Given the description of an element on the screen output the (x, y) to click on. 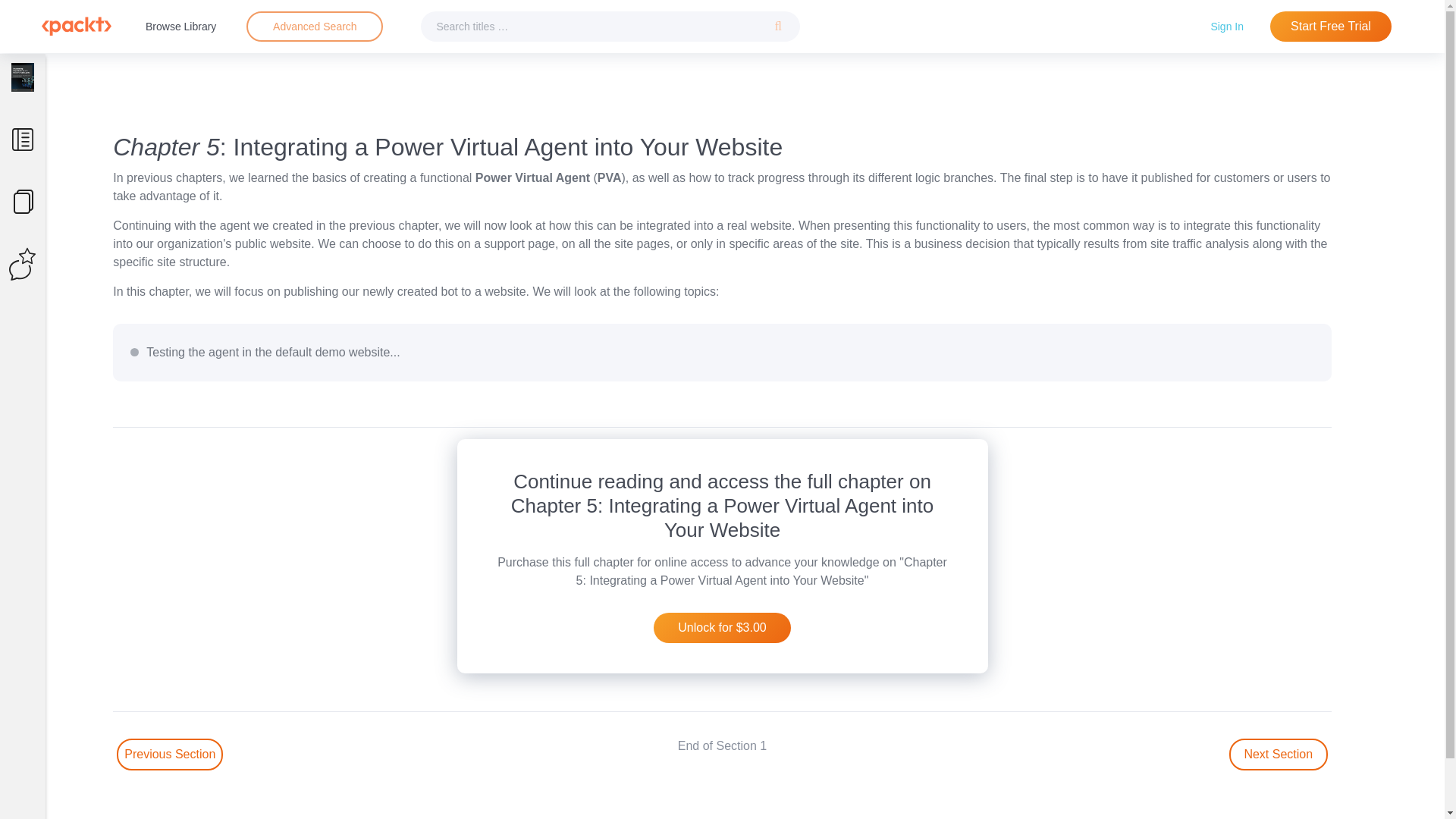
Advanced search (314, 26)
Advanced Search (314, 26)
Sign In (1227, 26)
Advanced Search (315, 26)
Browse Library (180, 26)
Start Free Trial (1330, 26)
Go to next section (1277, 754)
Go to Previous section (169, 754)
